Given the description of an element on the screen output the (x, y) to click on. 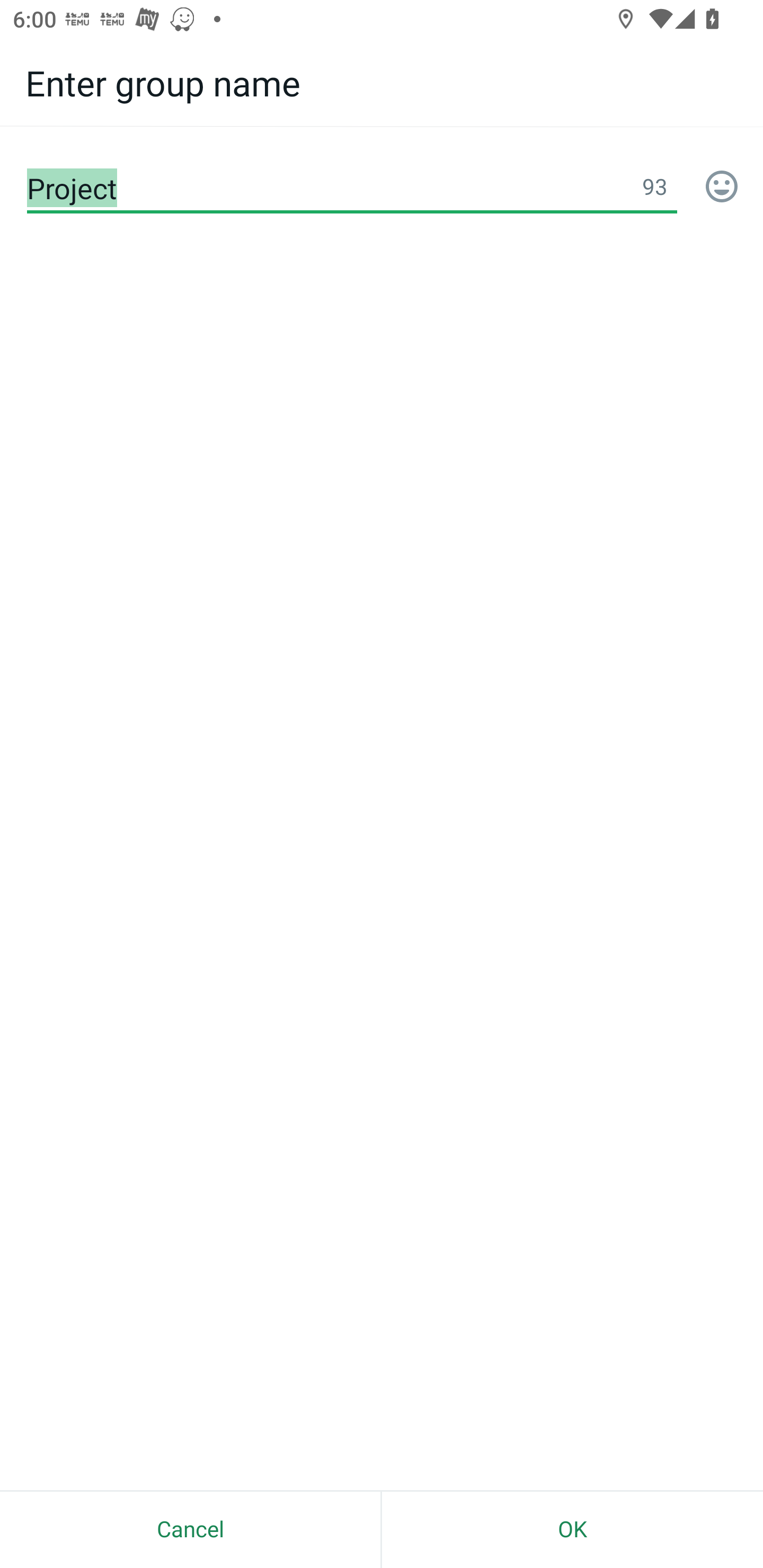
Project (351, 188)
Emoji (721, 188)
Cancel (190, 1529)
OK (572, 1529)
